Given the description of an element on the screen output the (x, y) to click on. 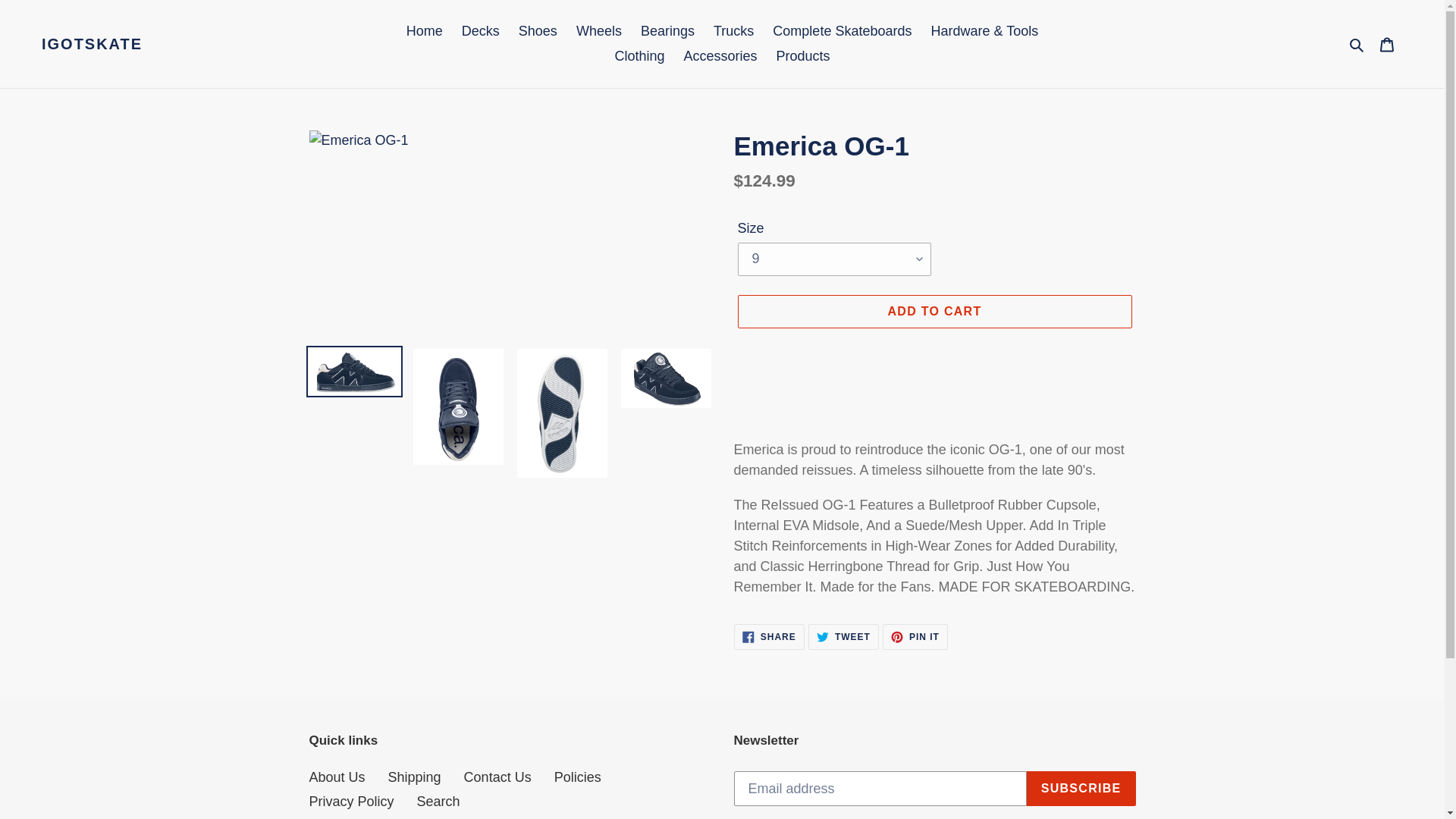
Search (1357, 44)
Wheels (598, 31)
Trucks (733, 31)
Home (423, 31)
Shoes (537, 31)
Complete Skateboards (841, 31)
Decks (480, 31)
Products (803, 56)
Accessories (719, 56)
Cart (1387, 43)
IGOTSKATE (92, 44)
Clothing (639, 56)
Bearings (667, 31)
ADD TO CART (769, 637)
